Given the description of an element on the screen output the (x, y) to click on. 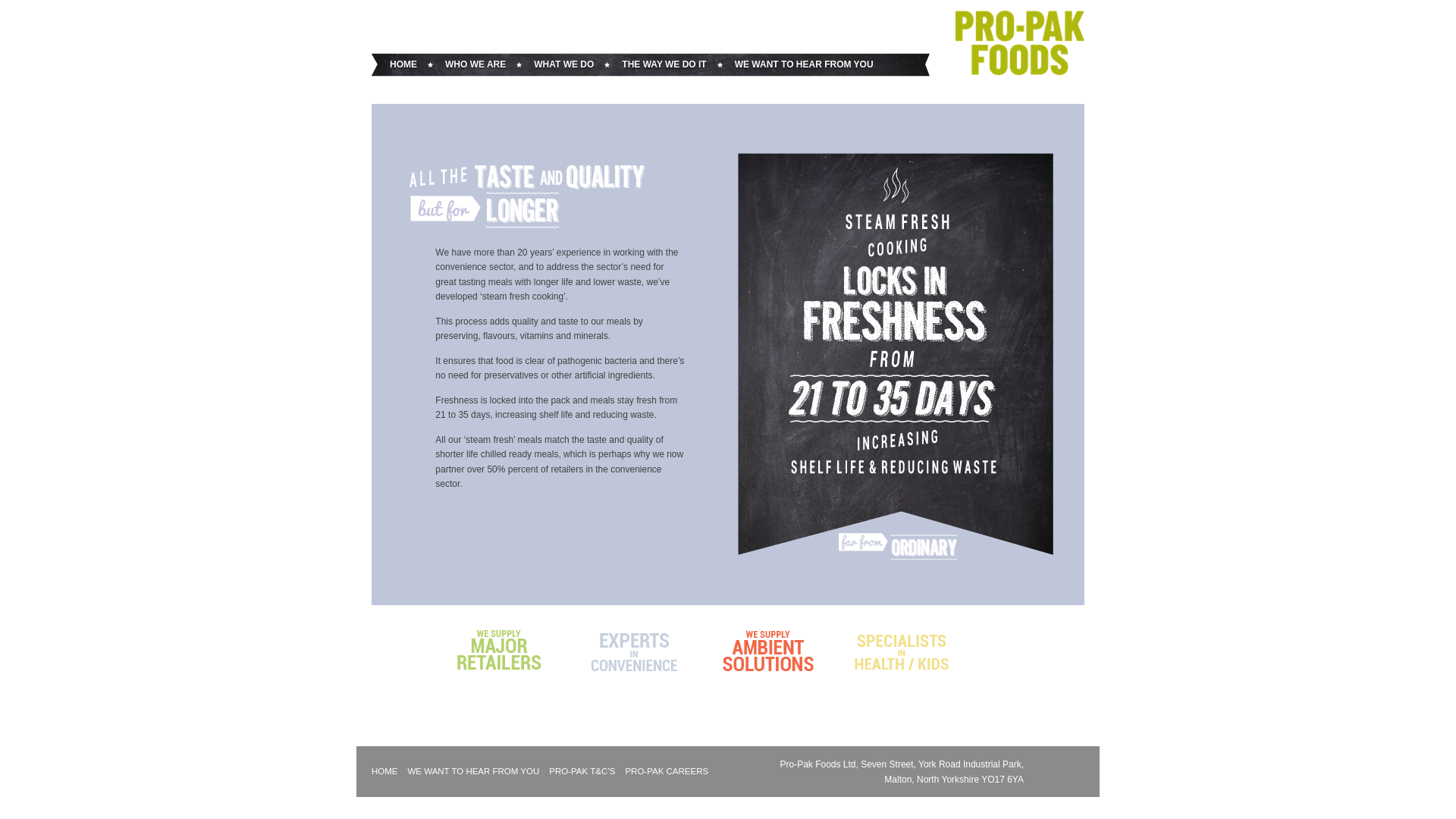
We supply ambient solutions (767, 650)
WE WANT TO HEAR FROM YOU (473, 770)
WHAT WE DO (564, 64)
WHO WE ARE (475, 64)
Experts in convenience (633, 650)
PRO-PAK CAREERS (665, 770)
THE WAY WE DO IT (663, 64)
HOME (384, 770)
HOME (403, 64)
We supply major retailers (499, 650)
WE WANT TO HEAR FROM YOU (804, 64)
